Given the description of an element on the screen output the (x, y) to click on. 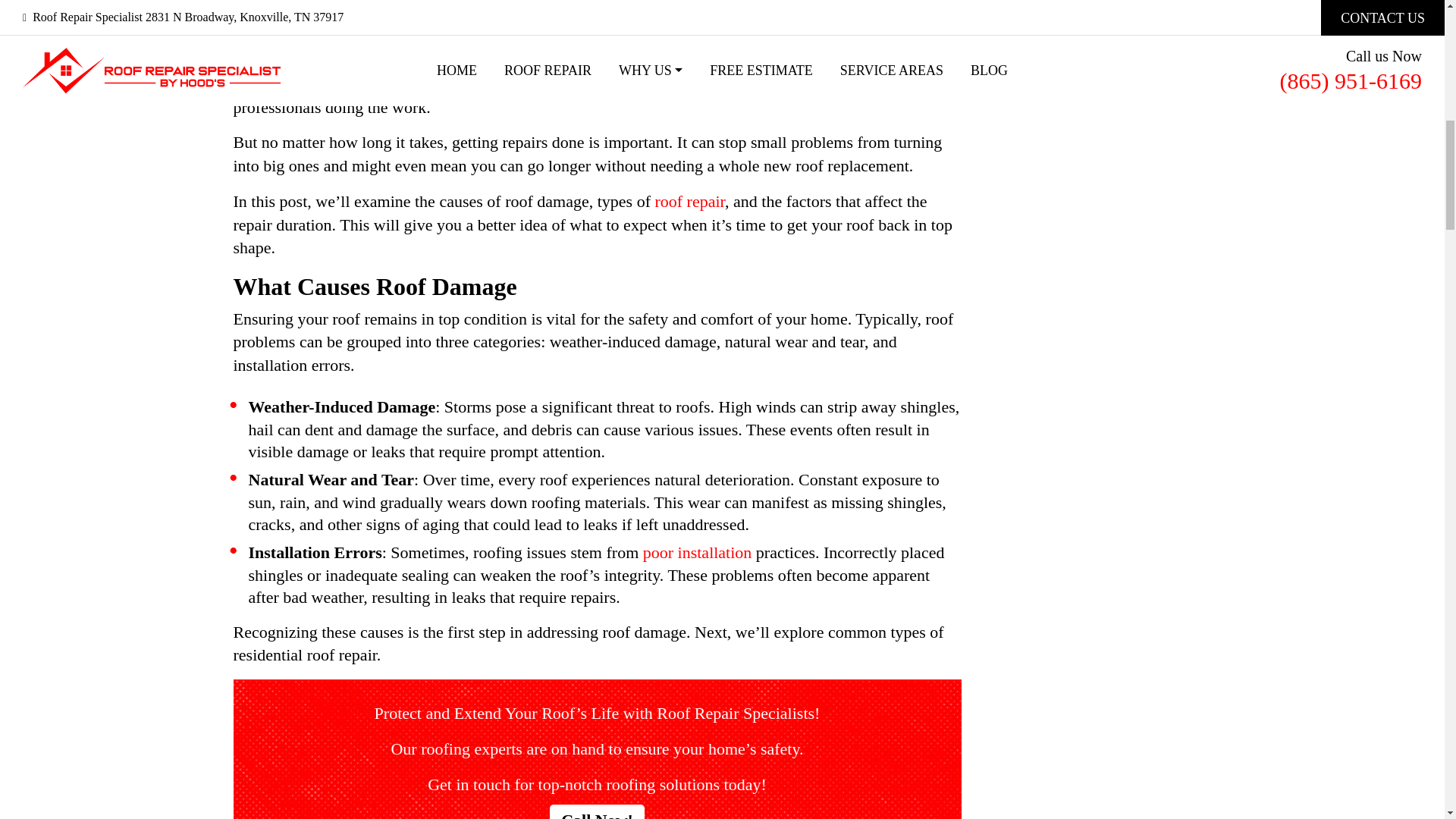
Call Now! (597, 811)
How much will it cost (455, 5)
roof repair (689, 200)
poor installation (697, 551)
